Given the description of an element on the screen output the (x, y) to click on. 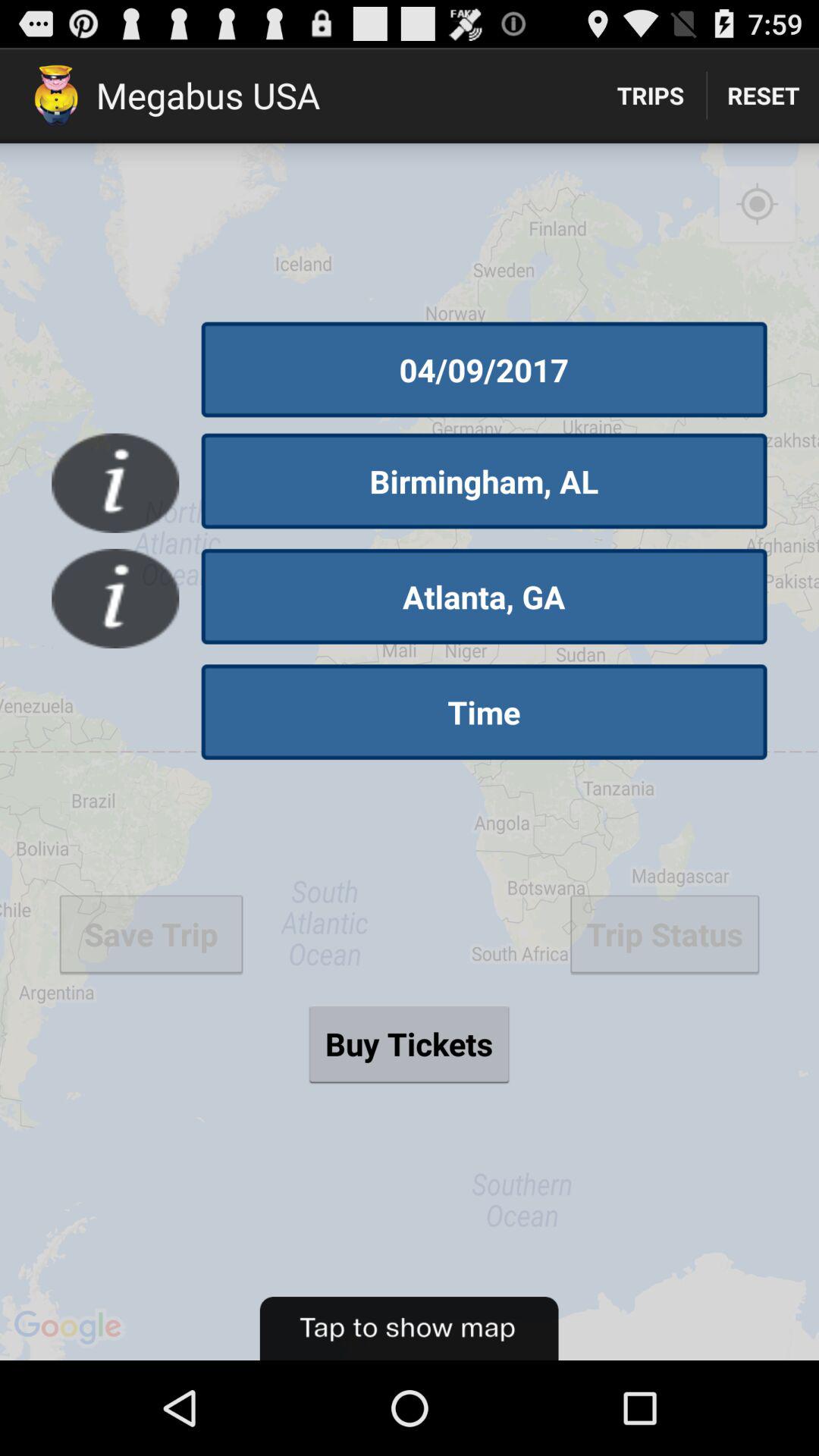
select the button above the save trip button (115, 598)
